Given the description of an element on the screen output the (x, y) to click on. 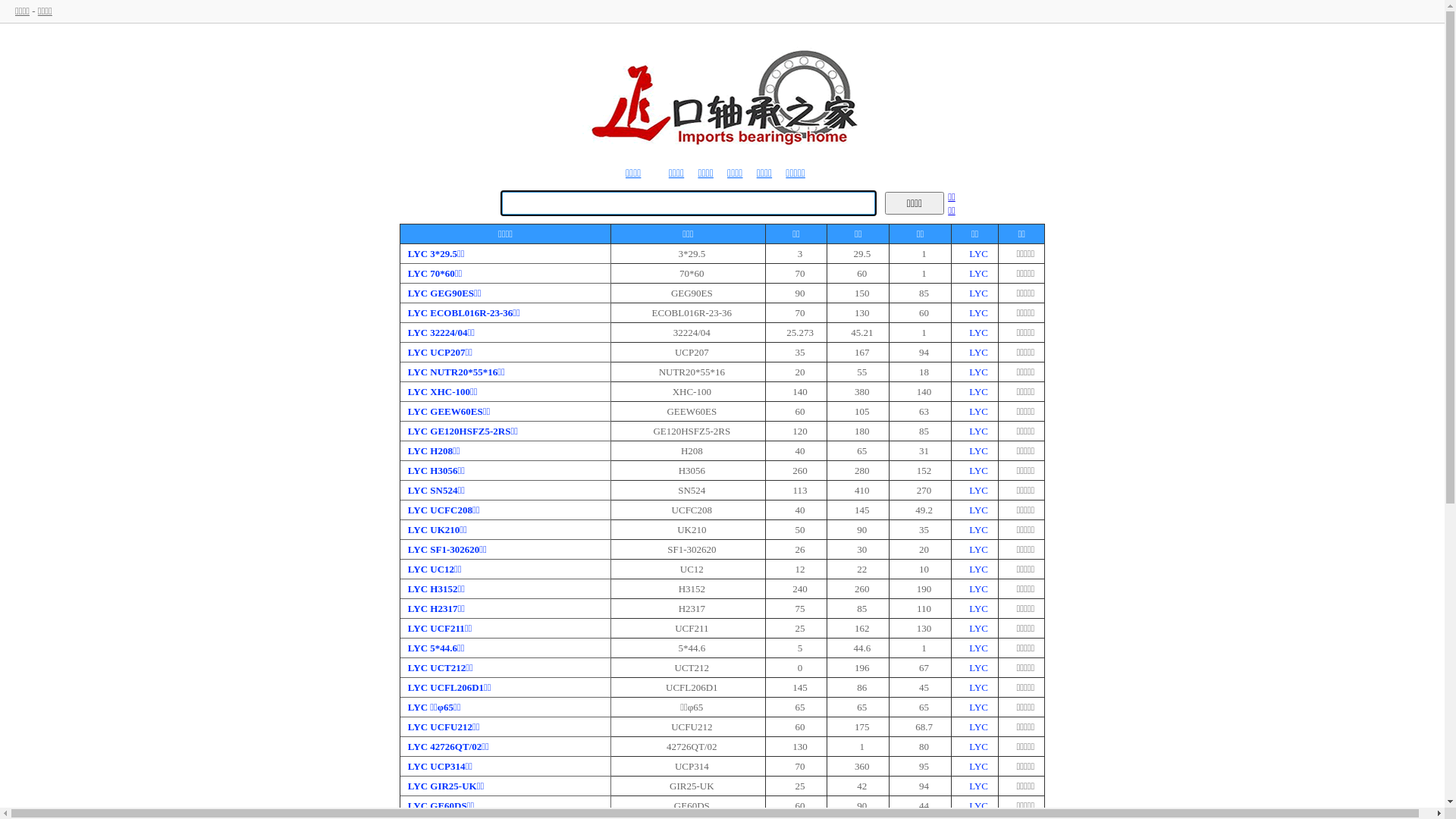
LYC Element type: text (978, 785)
LYC Element type: text (978, 588)
LYC Element type: text (978, 292)
LYC Element type: text (978, 371)
LYC Element type: text (978, 706)
LYC Element type: text (978, 726)
LYC Element type: text (978, 509)
LYC Element type: text (978, 687)
LYC Element type: text (978, 450)
LYC Element type: text (978, 411)
LYC Element type: text (978, 332)
LYC Element type: text (978, 568)
LYC Element type: text (978, 608)
LYC Element type: text (978, 273)
LYC Element type: text (978, 746)
LYC Element type: text (978, 647)
LYC Element type: text (978, 667)
LYC Element type: text (978, 549)
LYC Element type: text (978, 765)
LYC Element type: text (978, 391)
LYC Element type: text (978, 253)
LYC Element type: text (978, 470)
LYC Element type: text (978, 430)
LYC Element type: text (978, 529)
LYC Element type: text (978, 805)
LYC Element type: text (978, 351)
LYC Element type: text (978, 489)
LYC Element type: text (978, 312)
LYC Element type: text (978, 627)
